Given the description of an element on the screen output the (x, y) to click on. 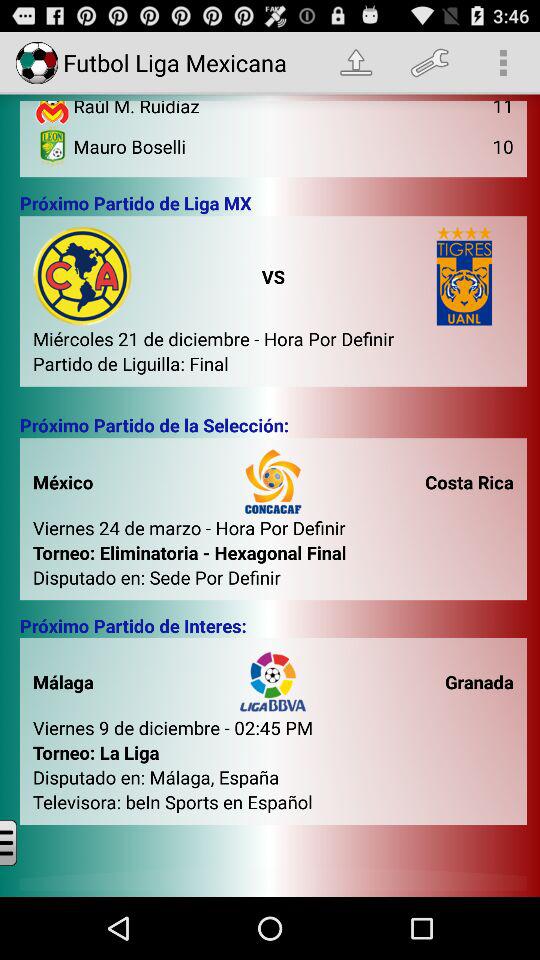
text called costa rica (463, 496)
